Given the description of an element on the screen output the (x, y) to click on. 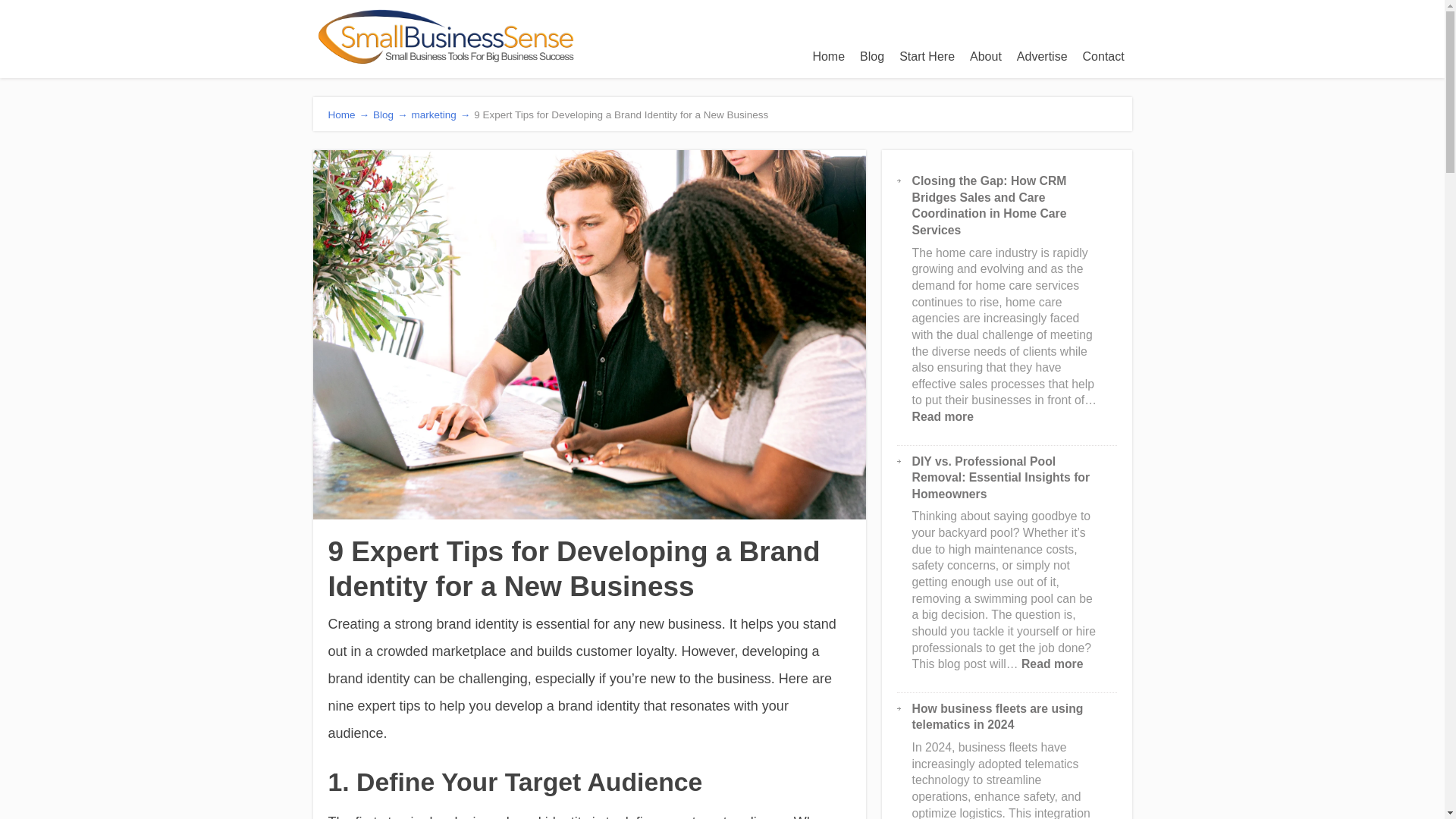
Home (828, 56)
About (985, 56)
Start Here (926, 56)
Blog (871, 56)
Contact (1103, 56)
Advertise (1042, 56)
How business fleets are using telematics in 2024 (997, 716)
